Given the description of an element on the screen output the (x, y) to click on. 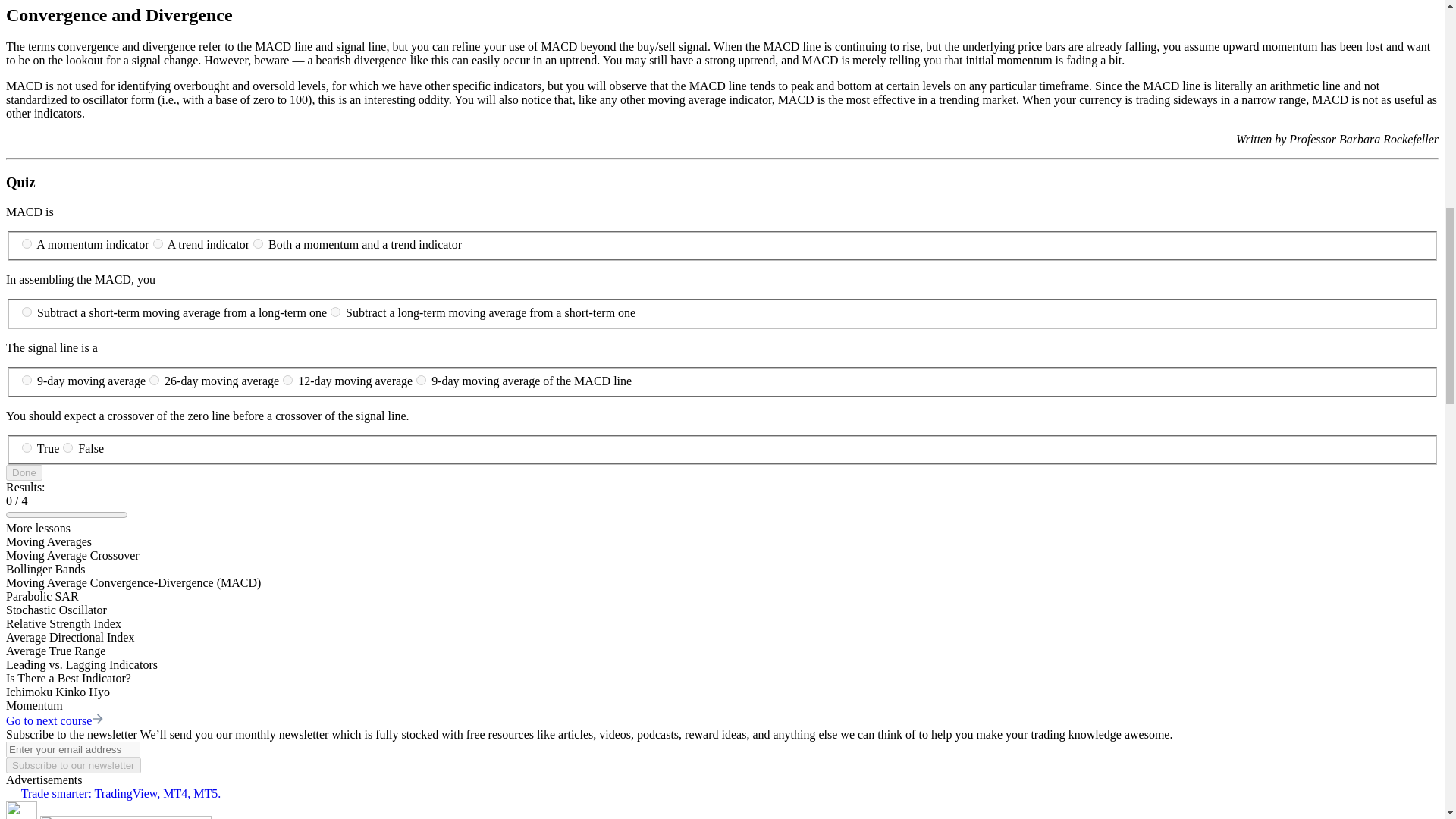
Subscribe to our newsletter (73, 765)
312 (26, 379)
Go to next course (54, 720)
314 (287, 379)
311 (335, 311)
Done (23, 472)
310 (26, 311)
316 (26, 447)
315 (421, 379)
308 (157, 243)
